Given the description of an element on the screen output the (x, y) to click on. 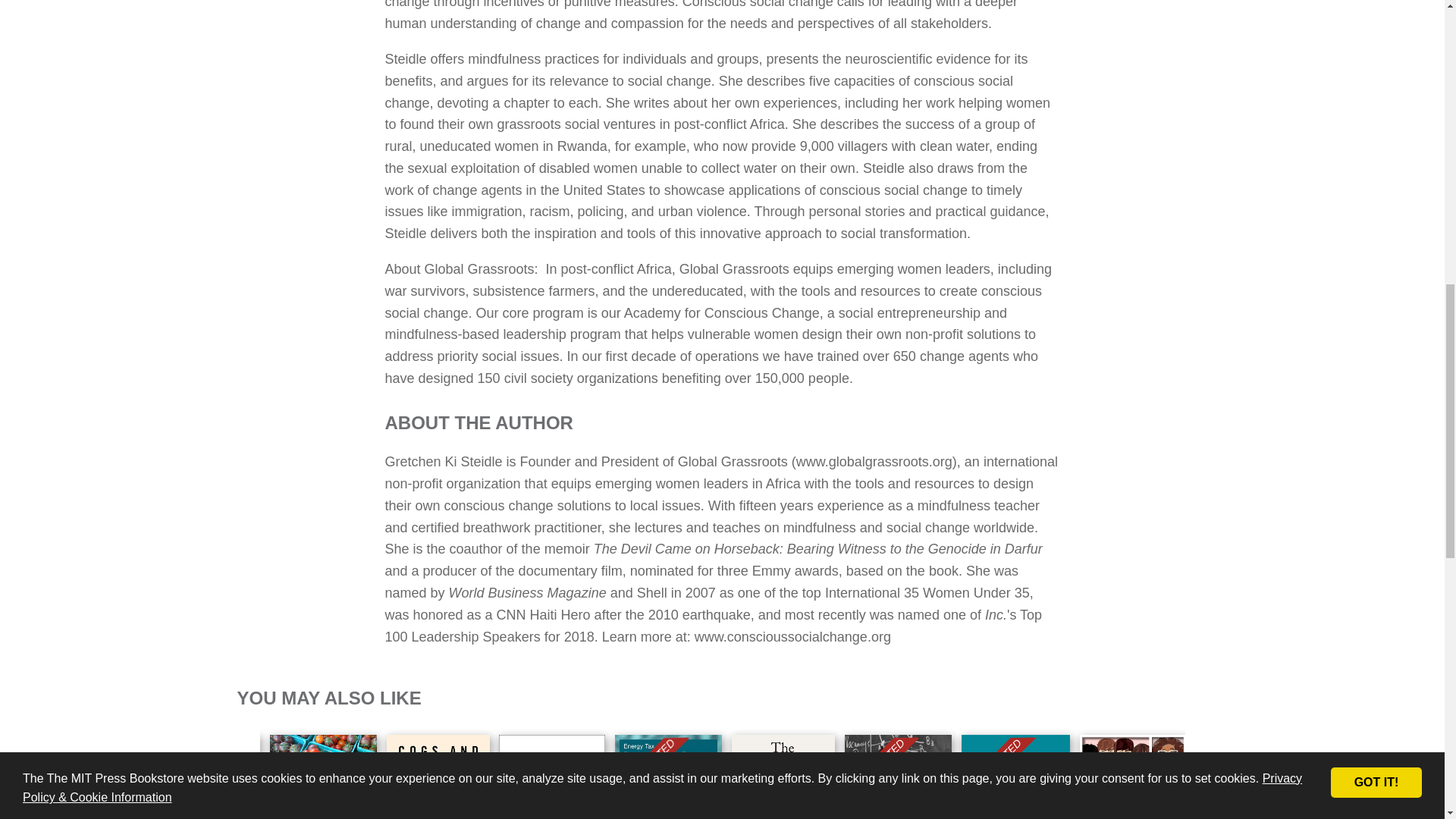
GOT IT! (1376, 50)
